Given the description of an element on the screen output the (x, y) to click on. 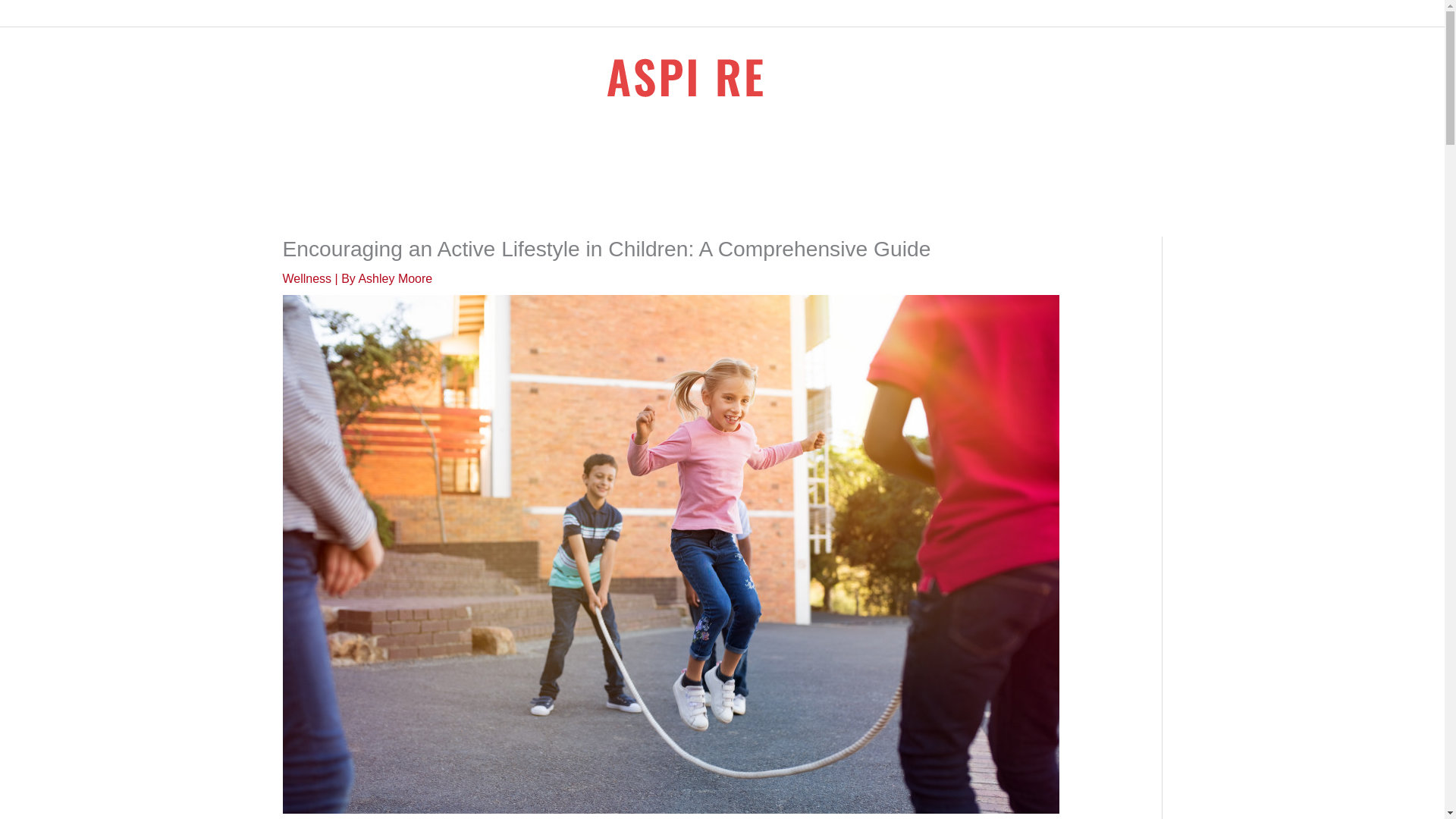
FITNESS (546, 164)
View all posts by Ashley Moore (395, 278)
HEALTH (613, 164)
Wellness (306, 278)
WELLNESS (890, 164)
Ashley Moore (395, 278)
WELLBEING (803, 164)
MEDICAL NEWS (704, 164)
